Given the description of an element on the screen output the (x, y) to click on. 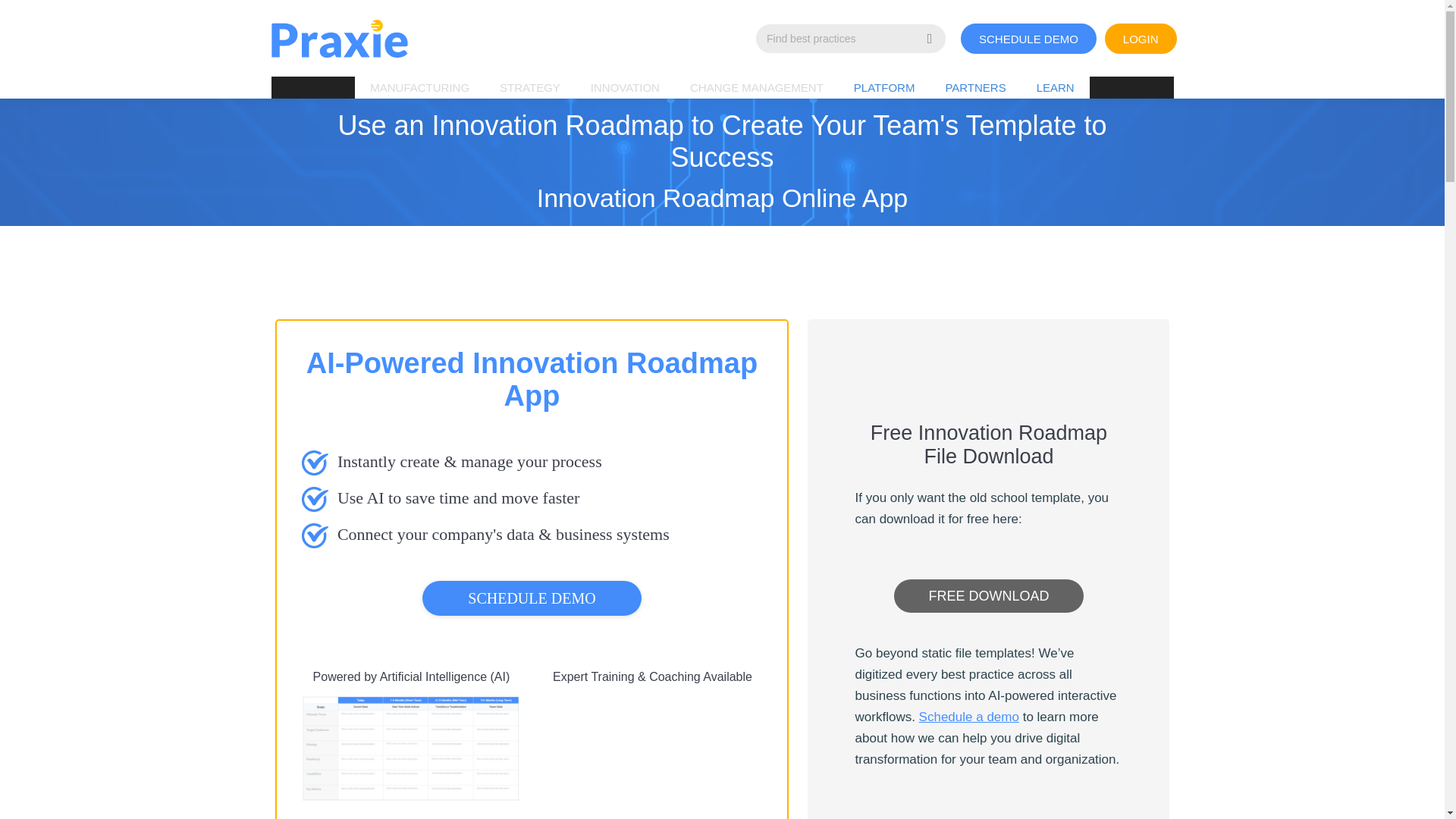
SCHEDULE DEMO (1019, 37)
Search form (849, 38)
Innovation Roadmap (652, 756)
Go! (33, 16)
MANUFACTURING (419, 87)
LOGIN (1131, 37)
